Given the description of an element on the screen output the (x, y) to click on. 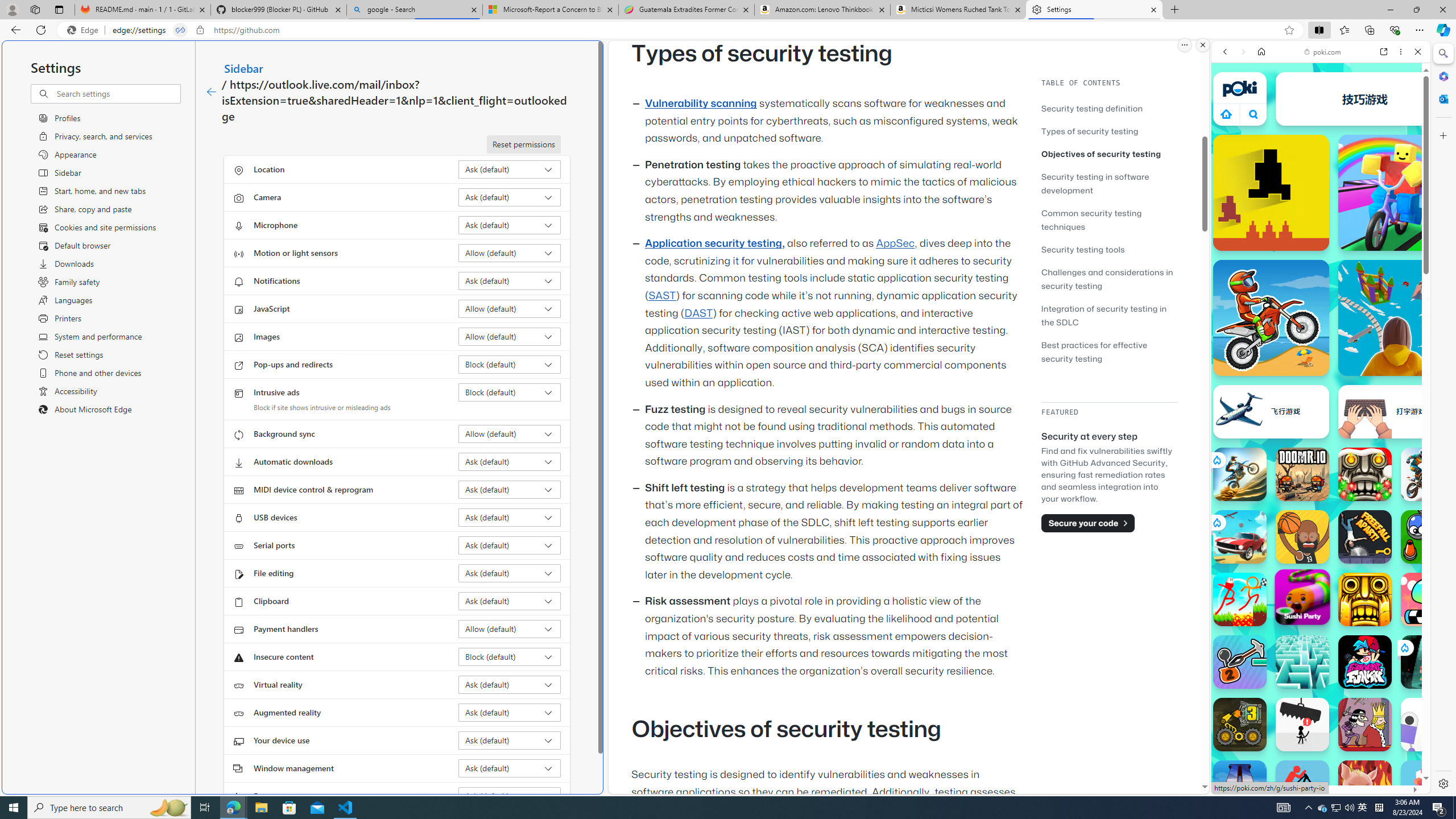
Objectives of security testing (1101, 153)
Temple Run 2 (1364, 599)
Search Filter, IMAGES (1262, 129)
SEARCH TOOLS (1350, 130)
Go back to Sidebar page. (210, 91)
Location Ask (default) (509, 169)
Common security testing techniques (1091, 219)
Settings (1094, 9)
Freefall Apart (1364, 536)
Integration of security testing in the SDLC (1104, 314)
Goal Training Goal Training (1427, 536)
Settings (1442, 783)
Clipboard Ask (default) (509, 601)
Io Games (1320, 350)
